Given the description of an element on the screen output the (x, y) to click on. 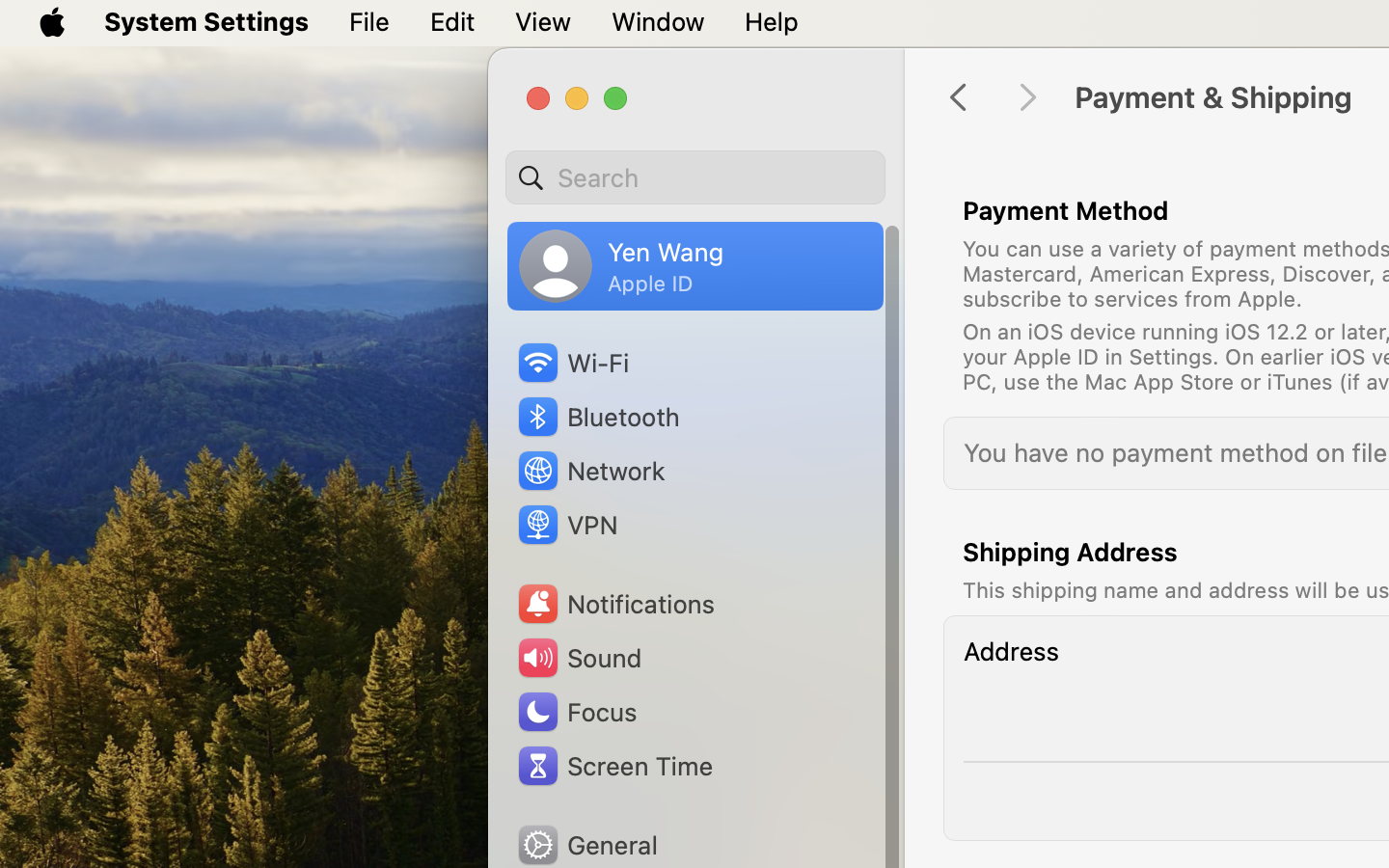
Address Element type: AXStaticText (1010, 650)
Yen Wang, Apple ID Element type: AXStaticText (620, 265)
Notifications Element type: AXStaticText (615, 603)
Wi‑Fi Element type: AXStaticText (571, 362)
Payment Method Element type: AXStaticText (1065, 209)
